Given the description of an element on the screen output the (x, y) to click on. 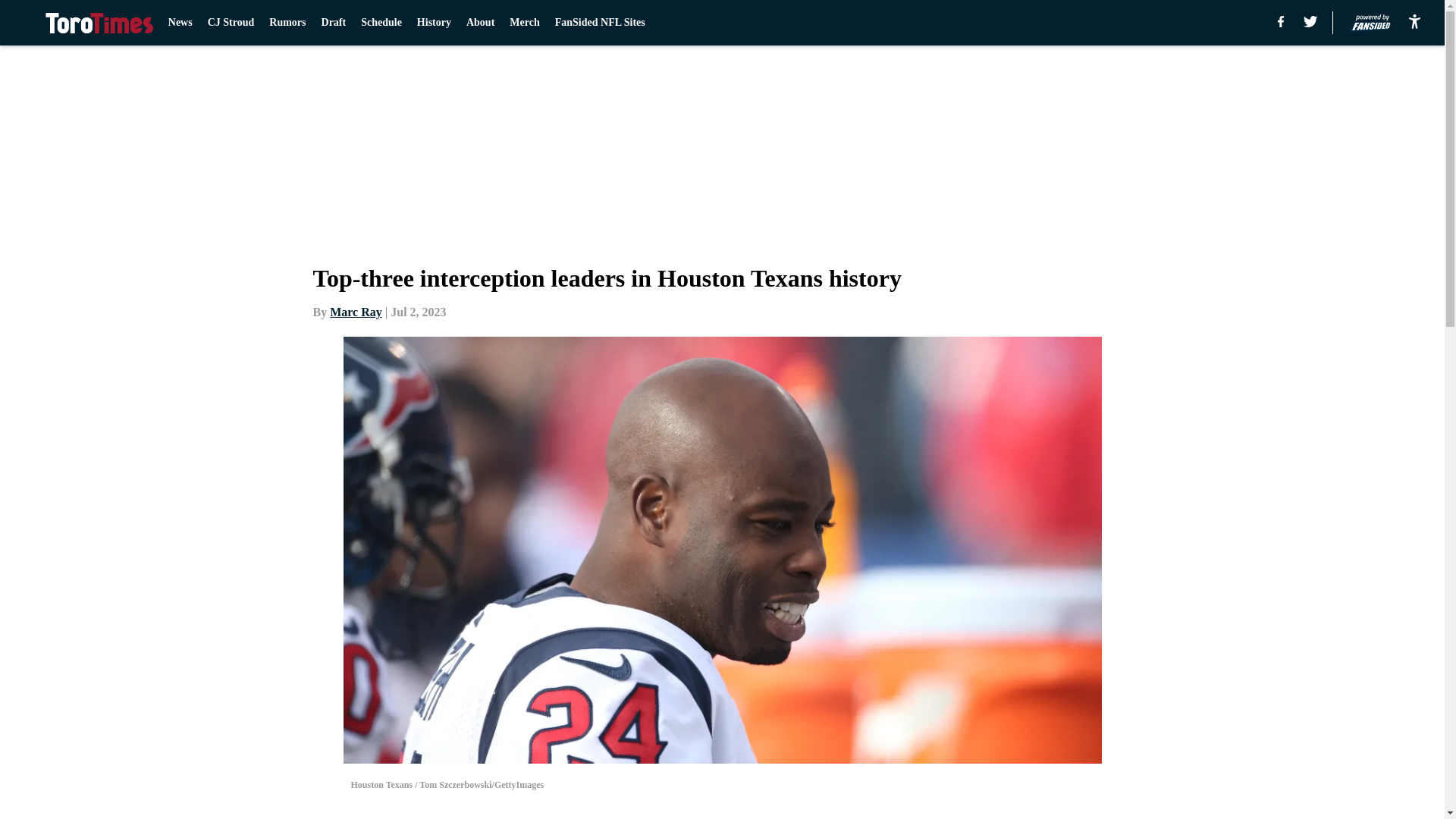
History (433, 22)
Merch (523, 22)
Schedule (381, 22)
Marc Ray (355, 311)
Rumors (287, 22)
News (180, 22)
CJ Stroud (231, 22)
Draft (333, 22)
FanSided NFL Sites (599, 22)
About (480, 22)
